Given the description of an element on the screen output the (x, y) to click on. 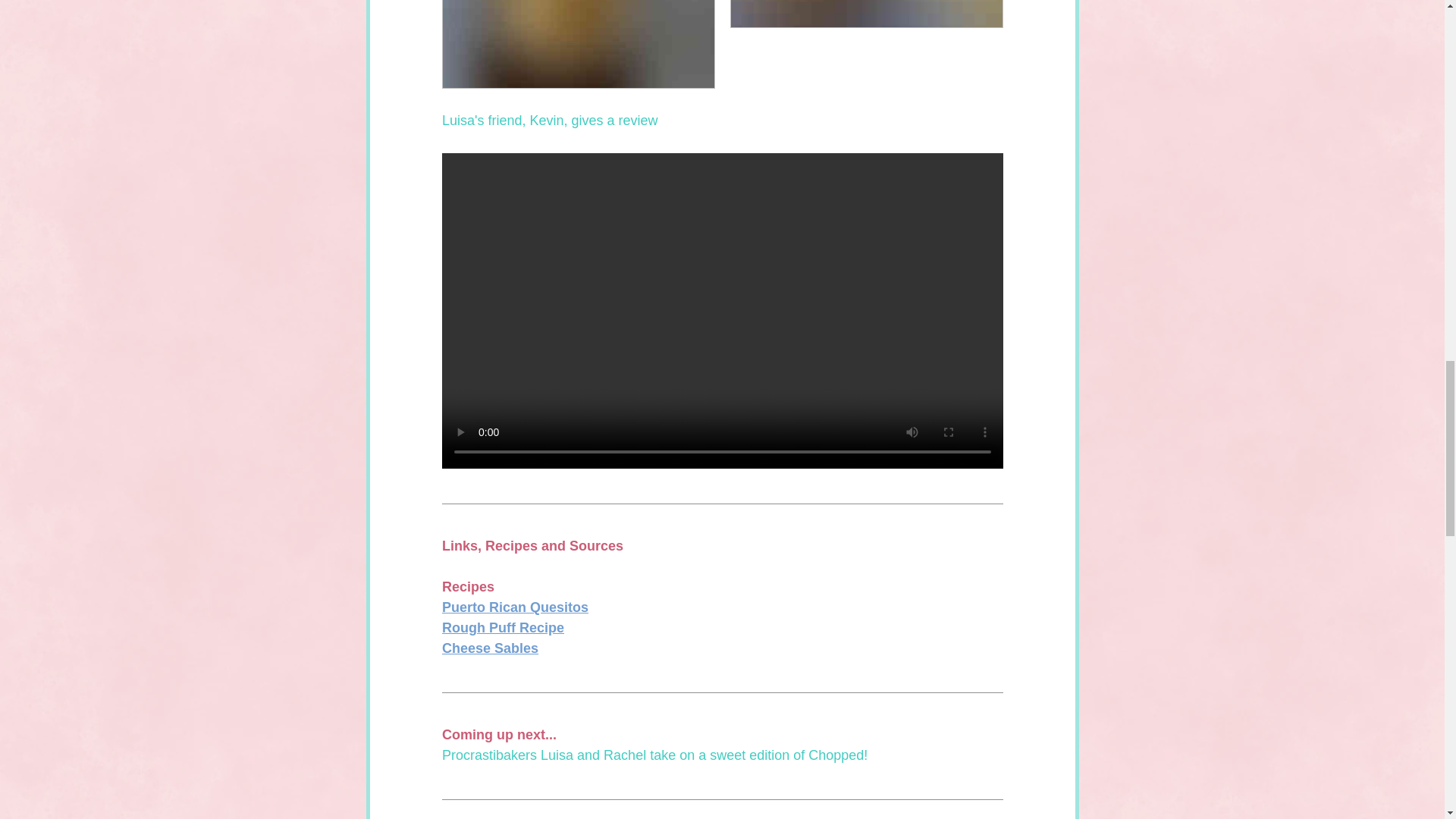
Cheese Sables (489, 648)
Rough Puff Recipe (502, 627)
Puerto Rican Quesitos (514, 607)
